Given the description of an element on the screen output the (x, y) to click on. 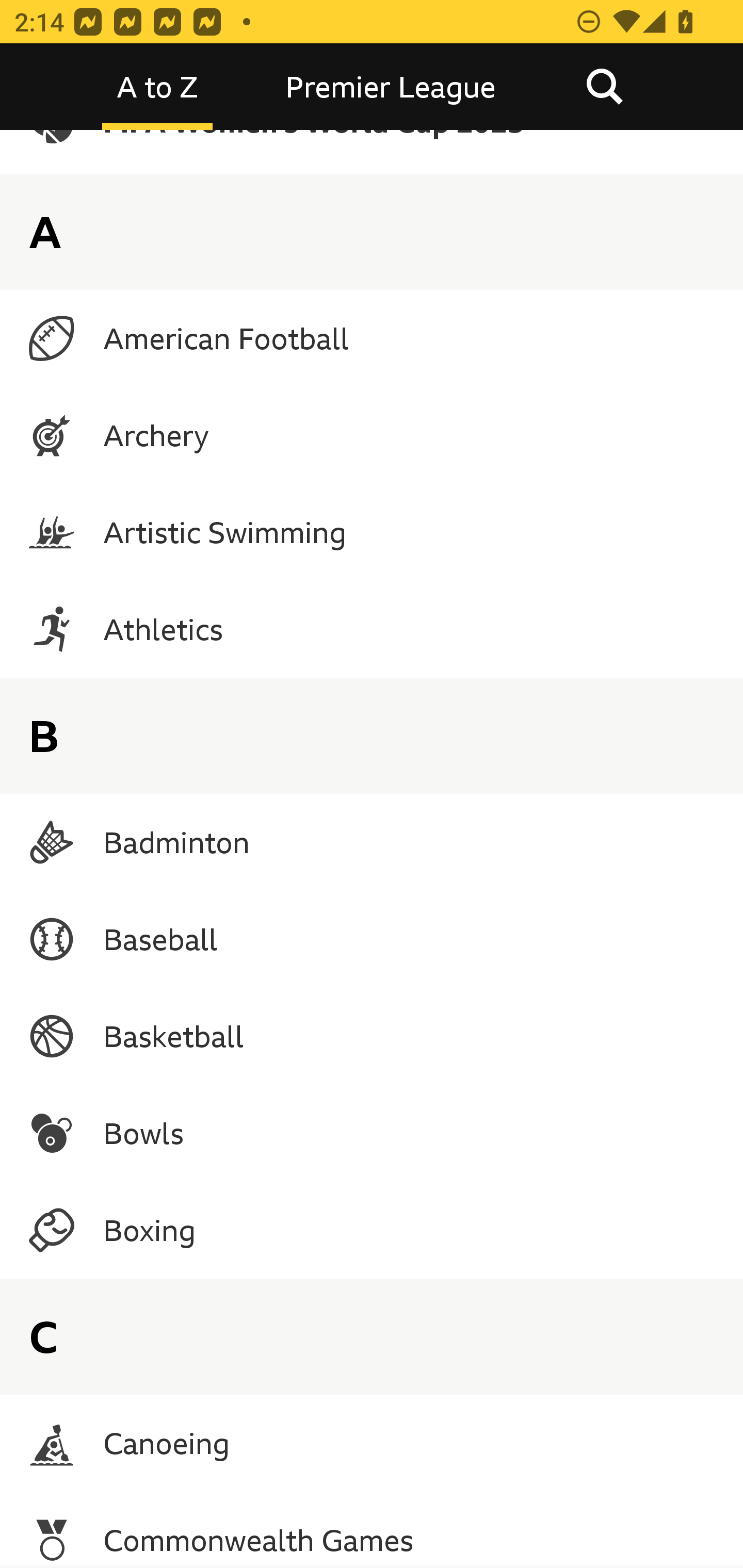
Premier League (390, 86)
Search (604, 86)
American Football (371, 338)
Archery (371, 435)
Artistic Swimming (371, 532)
Athletics (371, 628)
Badminton (371, 841)
Baseball (371, 938)
Basketball (371, 1036)
Bowls (371, 1133)
Boxing (371, 1229)
Canoeing (371, 1442)
Commonwealth Games (371, 1529)
